Given the description of an element on the screen output the (x, y) to click on. 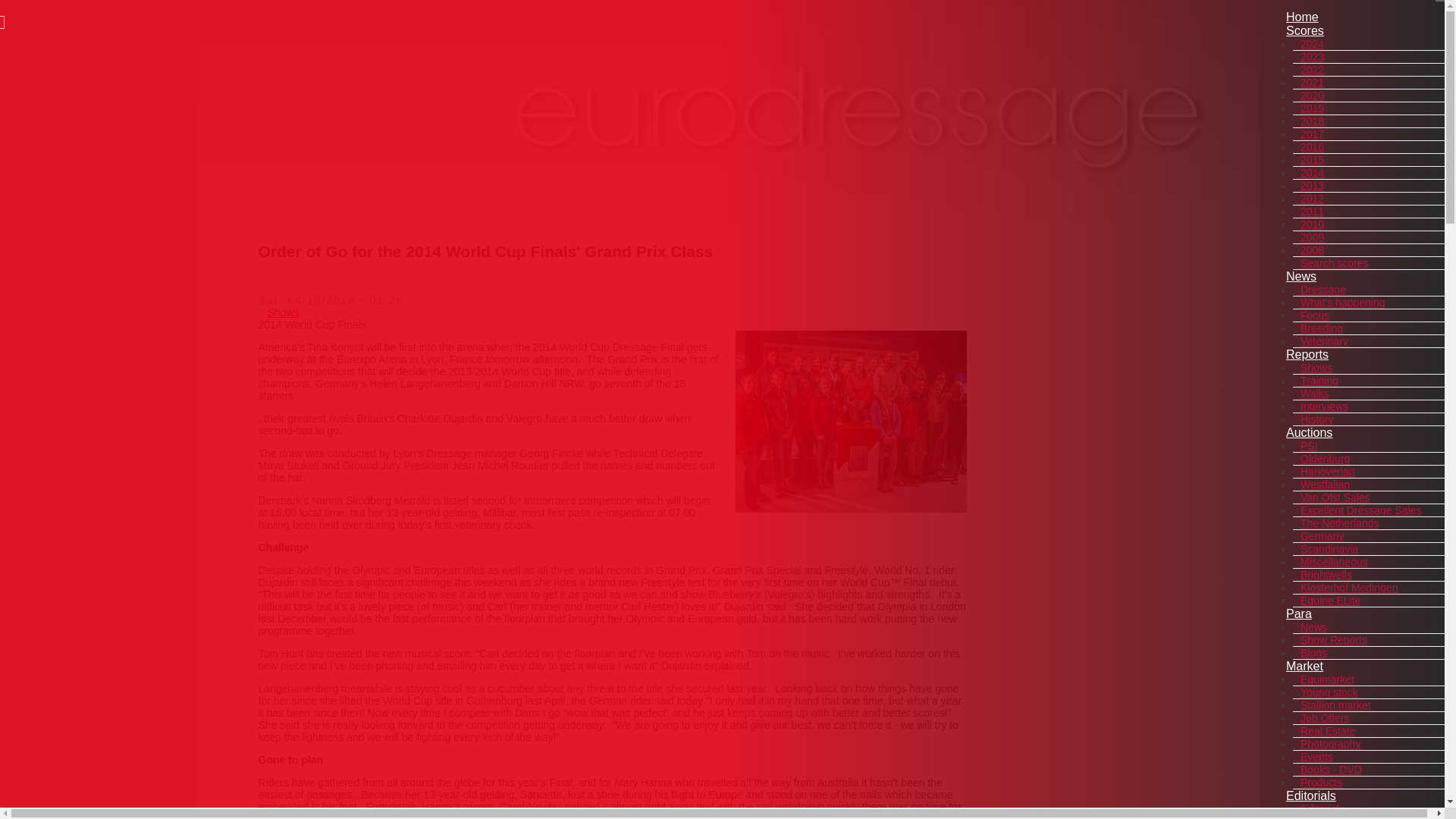
2017 (1312, 134)
PSI (1308, 445)
2021 (1312, 82)
2015 (1312, 159)
Westfalian (1324, 483)
Walks (1314, 393)
2016 (1312, 146)
2018 (1312, 121)
2014 (1312, 172)
